Given the description of an element on the screen output the (x, y) to click on. 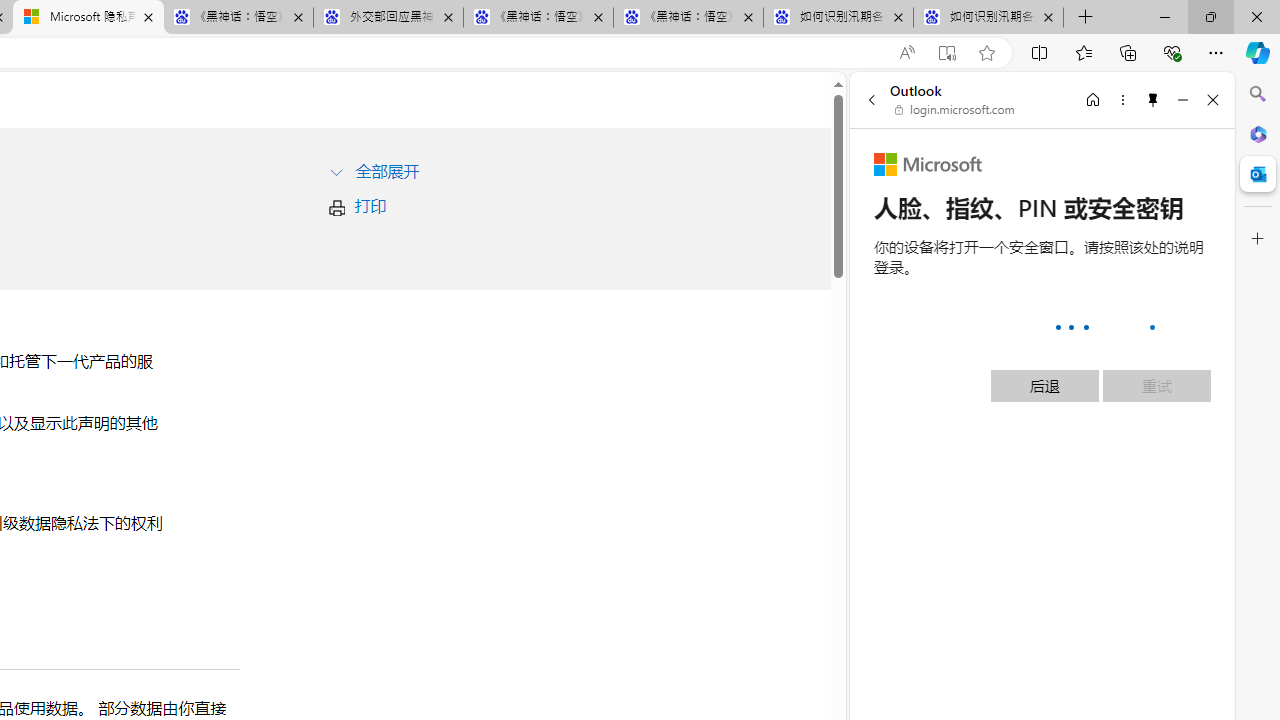
login.microsoft.com (955, 110)
